Given the description of an element on the screen output the (x, y) to click on. 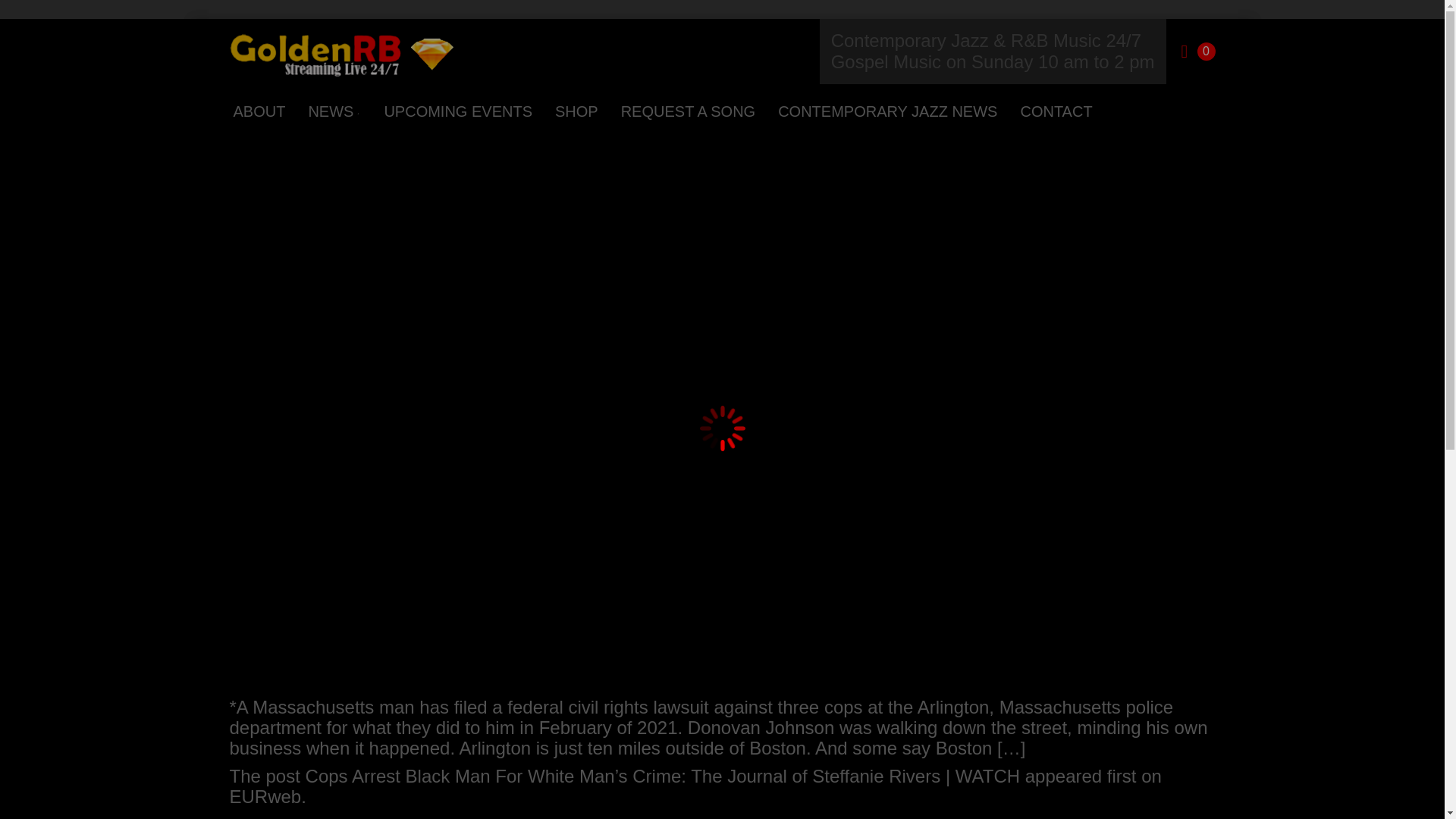
ABOUT (258, 111)
NEWS (334, 111)
 0 (1197, 51)
SHOP (576, 111)
UPCOMING EVENTS (457, 111)
REQUEST A SONG (687, 111)
CONTEMPORARY JAZZ NEWS (887, 111)
CONTACT (1056, 111)
